Given the description of an element on the screen output the (x, y) to click on. 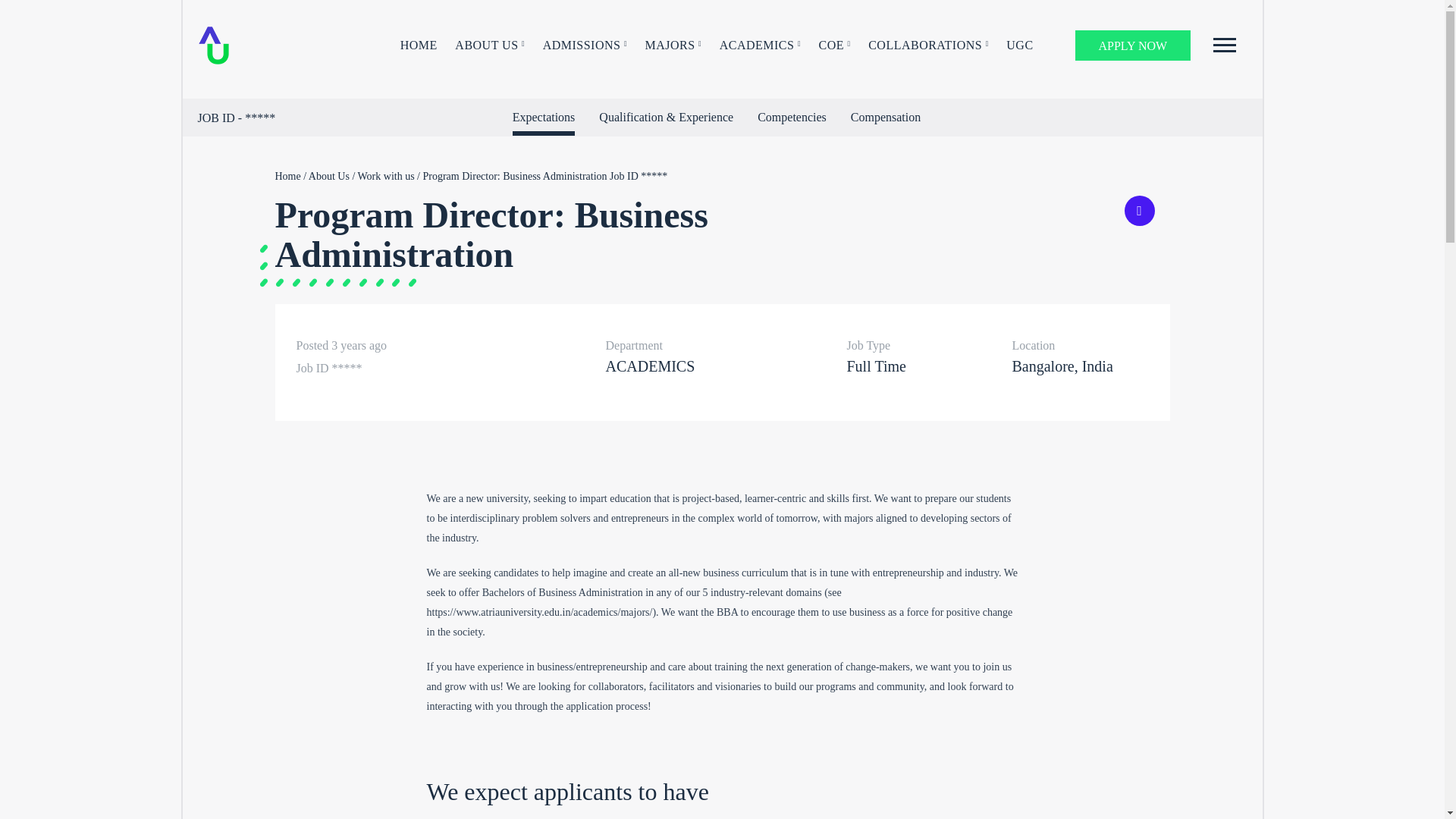
Expectations (543, 119)
COLLABORATIONS (927, 45)
Compensation (885, 117)
Competencies (792, 117)
ACADEMICS (759, 45)
HOME (419, 45)
UGC (1019, 45)
APPLY NOW (1133, 45)
ADMISSIONS (585, 45)
MAJORS (673, 45)
COE (834, 45)
ABOUT US (489, 45)
